Given the description of an element on the screen output the (x, y) to click on. 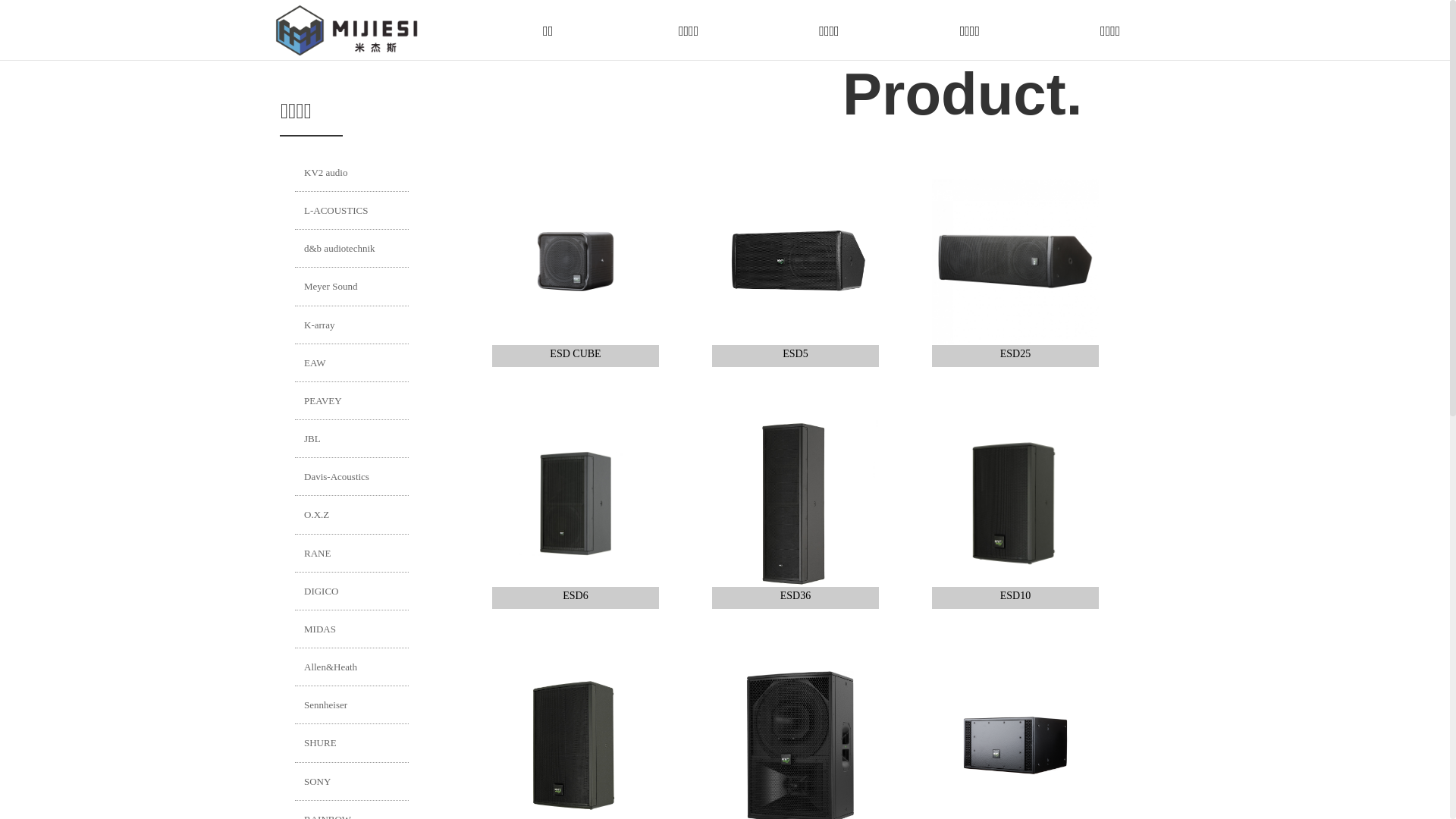
PEAVEY Element type: text (351, 400)
KV2 audio Element type: text (351, 172)
ESD10 Element type: text (1014, 514)
MIDAS Element type: text (351, 628)
EAW Element type: text (351, 362)
RANE Element type: text (351, 552)
ESD5 Element type: text (795, 272)
L-ACOUSTICS Element type: text (351, 210)
DIGICO Element type: text (351, 590)
ESD36 Element type: text (795, 514)
d&b audiotechnik Element type: text (351, 247)
Sennheiser Element type: text (351, 704)
ESD6 Element type: text (575, 514)
SHURE Element type: text (351, 742)
JBL Element type: text (351, 438)
SONY Element type: text (351, 781)
K-array Element type: text (351, 324)
ESD25 Element type: text (1014, 272)
Allen&Heath Element type: text (351, 666)
O.X.Z Element type: text (351, 514)
Meyer Sound Element type: text (351, 285)
Davis-Acoustics Element type: text (351, 476)
ESD CUBE Element type: text (575, 272)
